Given the description of an element on the screen output the (x, y) to click on. 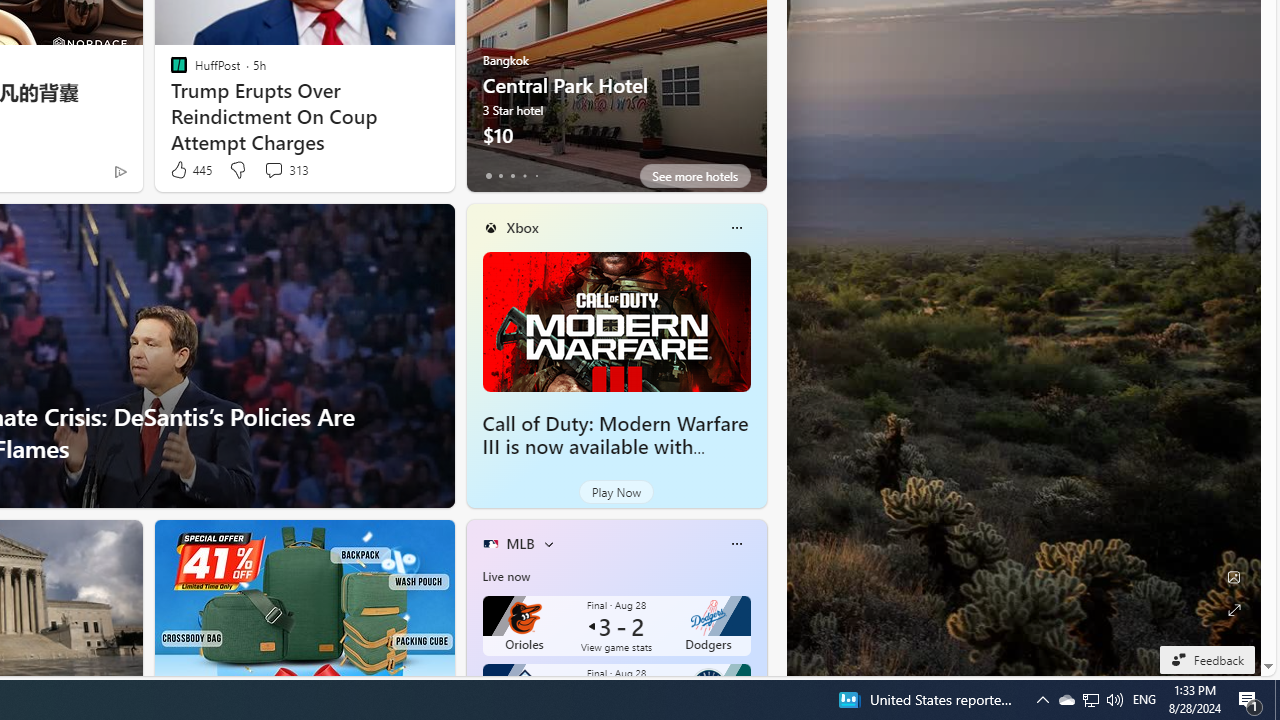
More interests (548, 543)
Play Now (616, 491)
Feedback (1206, 659)
tab-1 (500, 175)
Expand background (1233, 610)
See more hotels (694, 175)
tab-3 (524, 175)
